Given the description of an element on the screen output the (x, y) to click on. 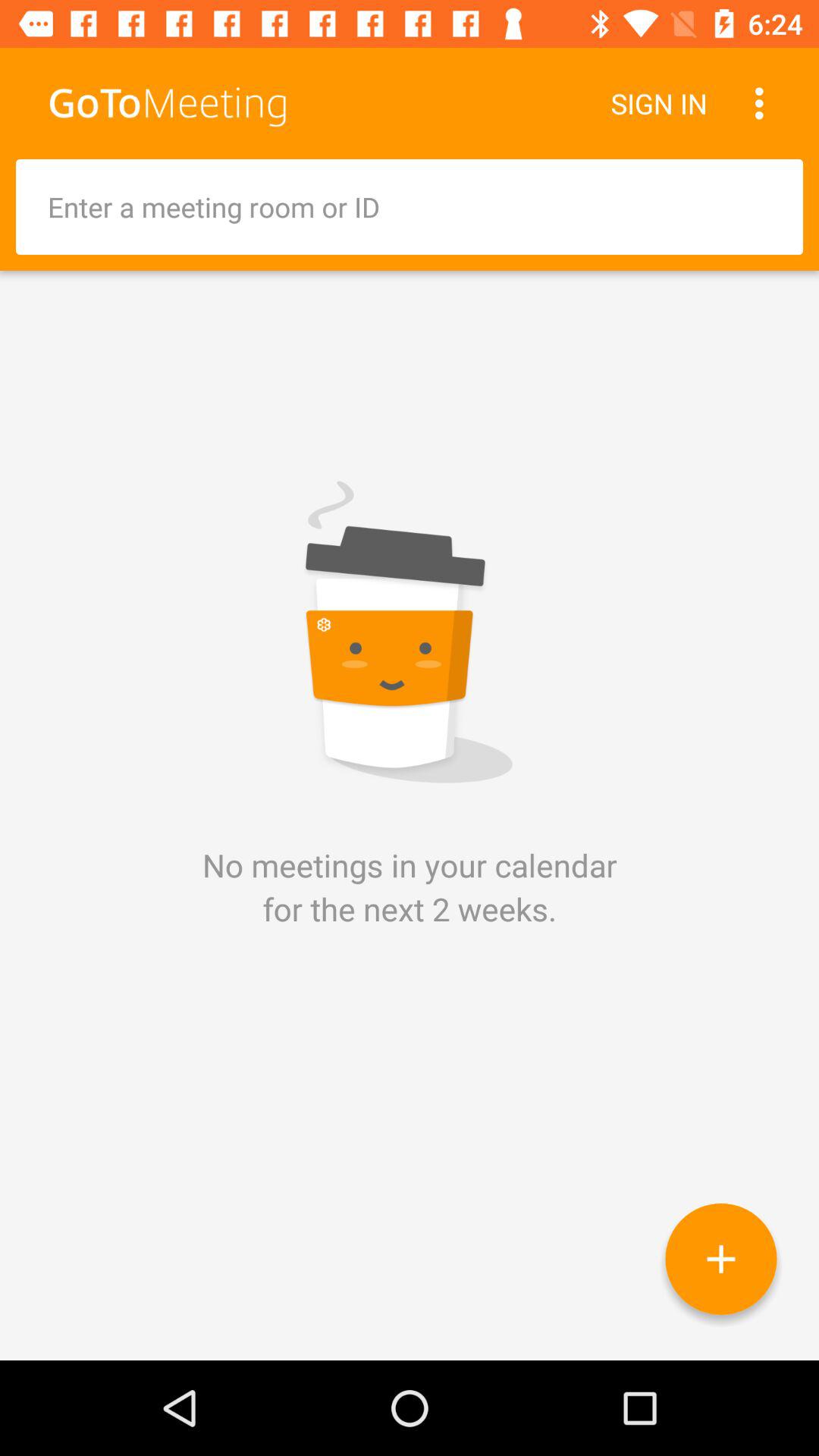
launch item to the right of the sign in icon (763, 103)
